Given the description of an element on the screen output the (x, y) to click on. 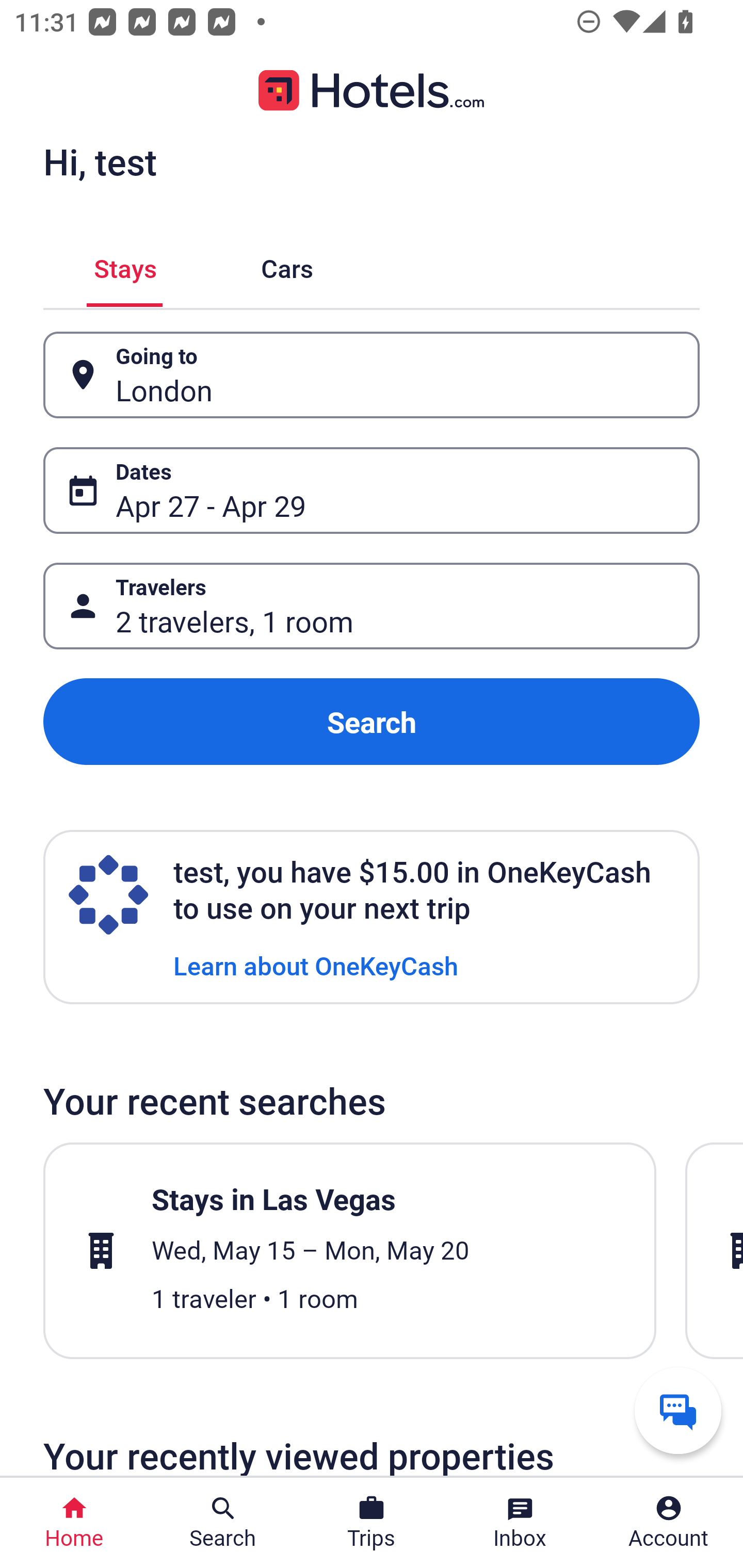
Hi, test (99, 161)
Cars (286, 265)
Going to Button London (371, 375)
Dates Button Apr 27 - Apr 29 (371, 489)
Travelers Button 2 travelers, 1 room (371, 605)
Search (371, 721)
Learn about OneKeyCash Learn about OneKeyCash Link (315, 964)
Get help from a virtual agent (677, 1410)
Search Search Button (222, 1522)
Trips Trips Button (371, 1522)
Inbox Inbox Button (519, 1522)
Account Profile. Button (668, 1522)
